Given the description of an element on the screen output the (x, y) to click on. 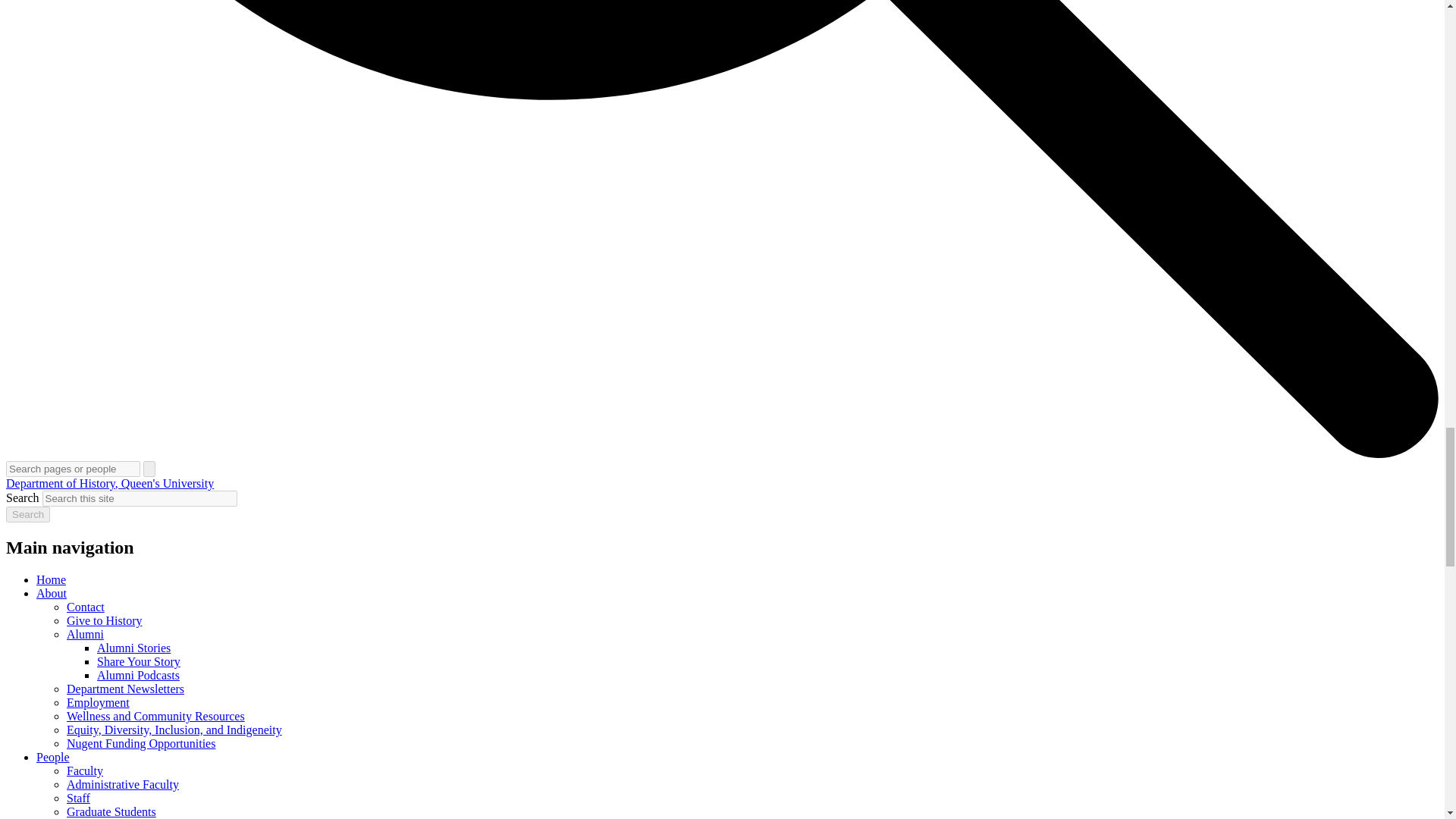
About (51, 593)
Staff (78, 797)
Share Your Story (138, 661)
Employment (97, 702)
Alumni Stories (133, 647)
Department Newsletters (125, 688)
Alumni Podcasts (138, 675)
Wellness and Community Resources (155, 716)
Department of History, Queen's University (109, 482)
Give to History (104, 620)
